Given the description of an element on the screen output the (x, y) to click on. 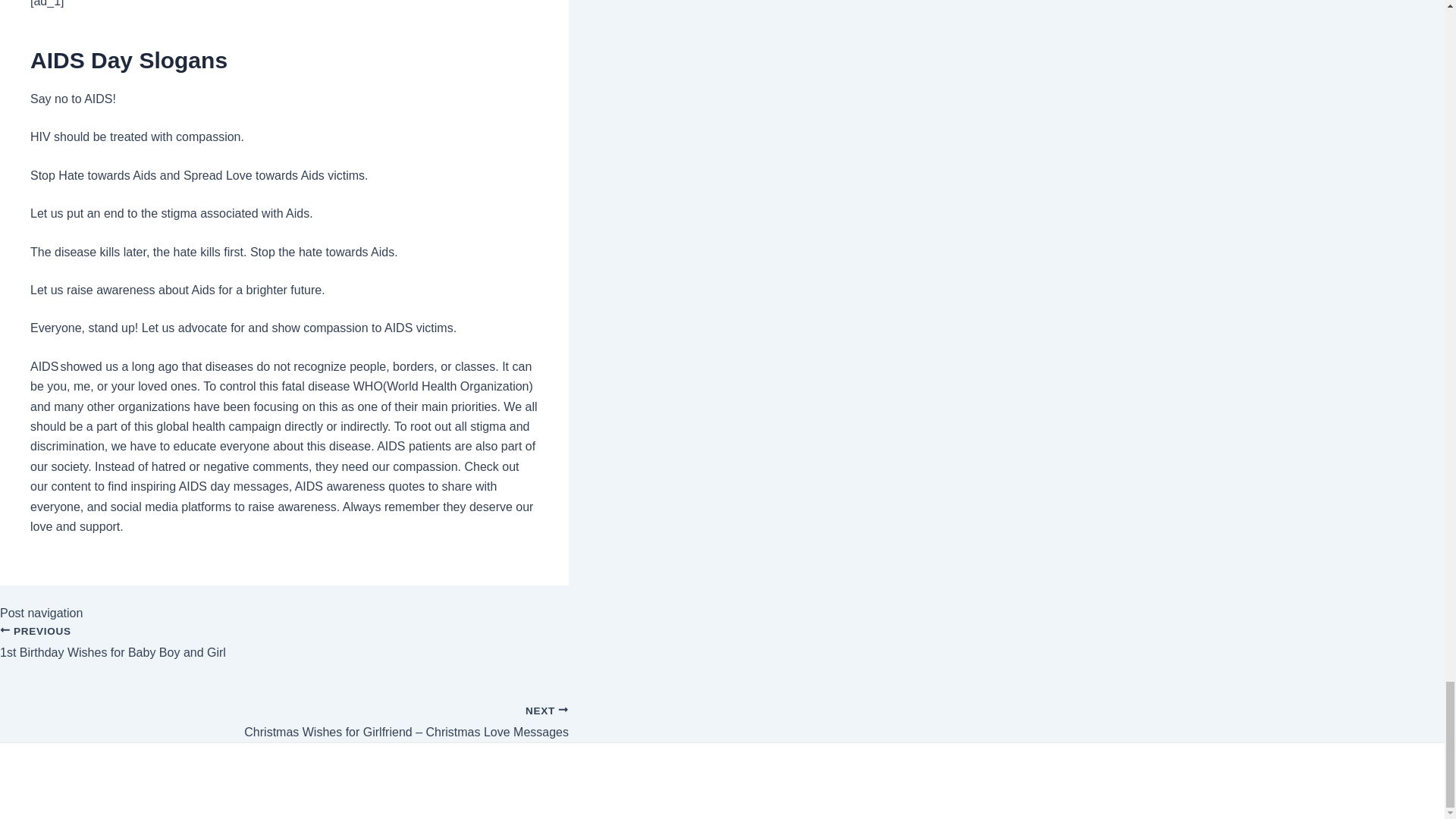
1st Birthday Wishes for Baby Boy and Girl (284, 651)
Christmas Wishes for Girlfriend - Christmas Love Messages (284, 714)
